Given the description of an element on the screen output the (x, y) to click on. 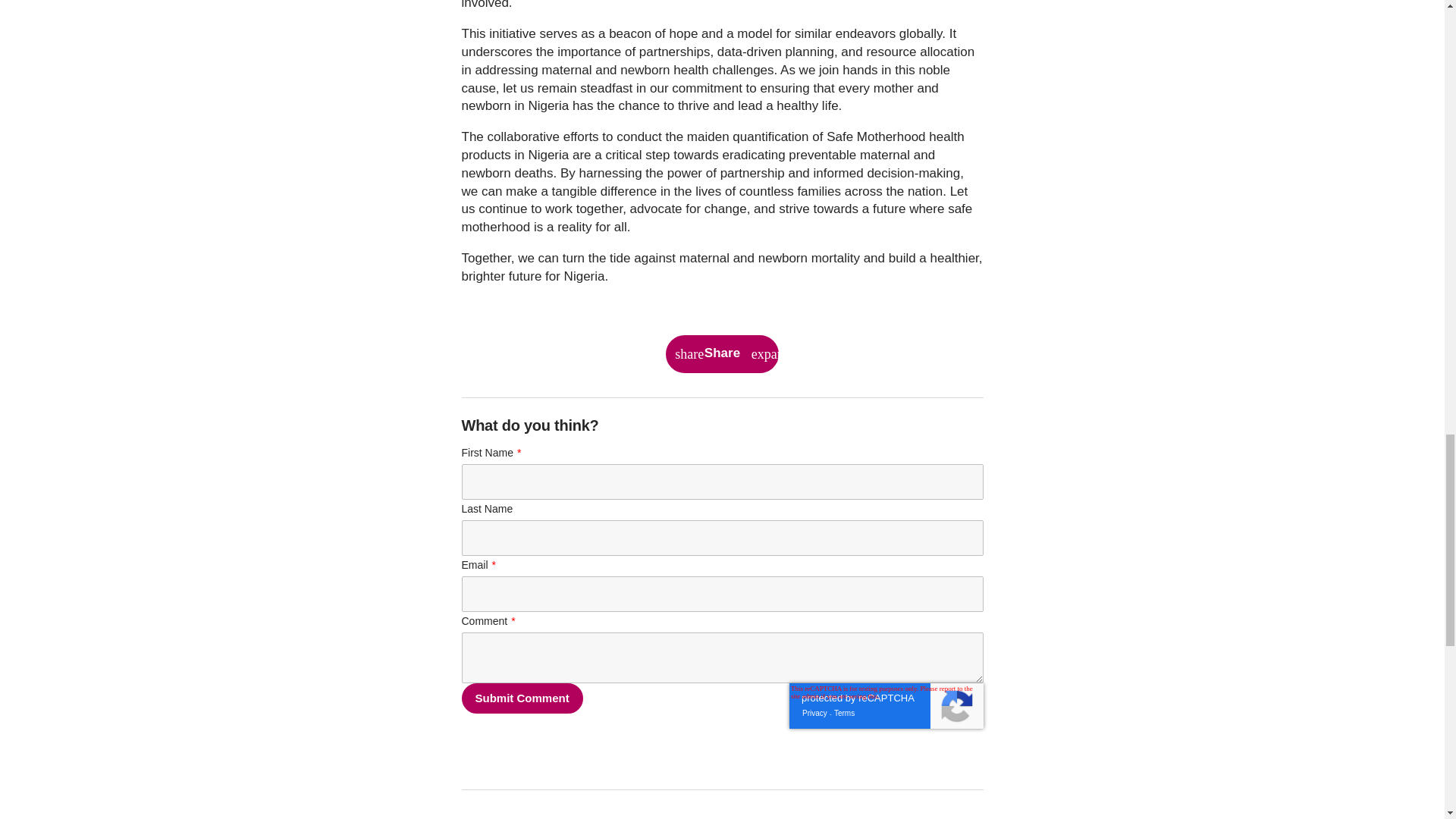
reCAPTCHA (885, 705)
Submit Comment (521, 698)
Submit Comment (521, 698)
